Given the description of an element on the screen output the (x, y) to click on. 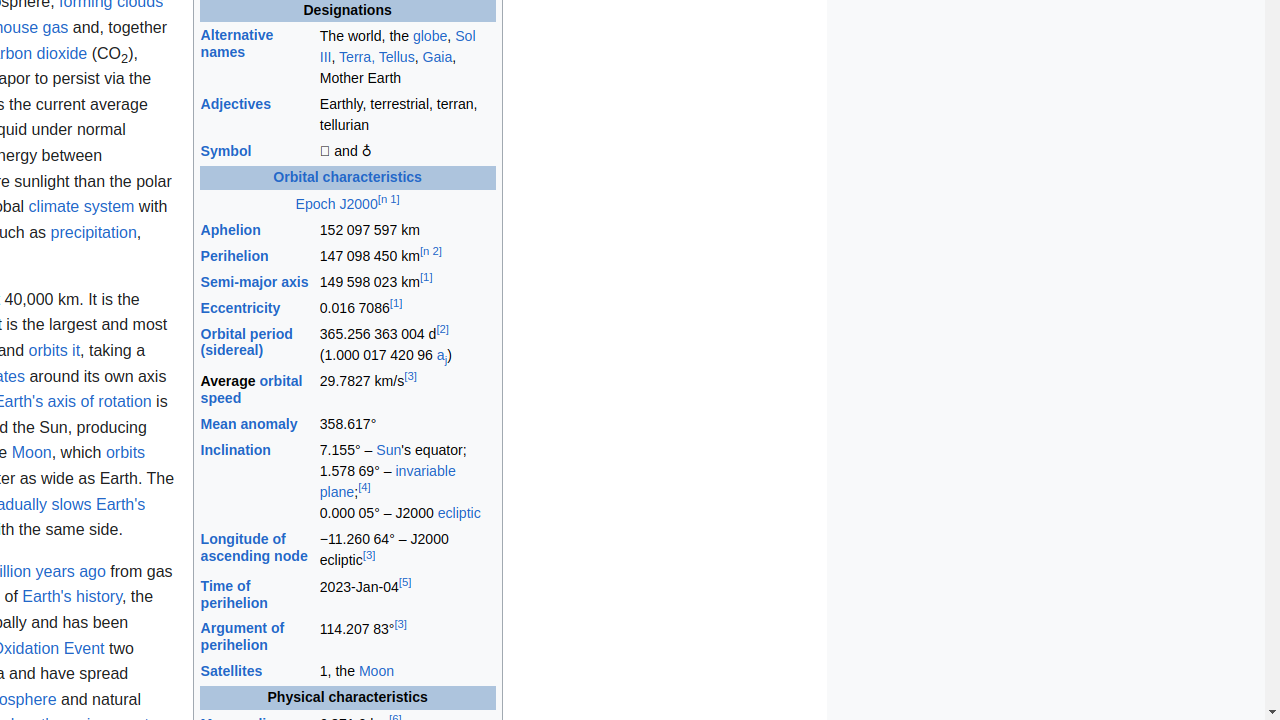
Longitude of ascending node Element type: link (254, 547)
Symbol Element type: link (226, 151)
precipitation Element type: link (93, 231)
orbital speed Element type: link (251, 389)
[1] Element type: link (426, 277)
